Given the description of an element on the screen output the (x, y) to click on. 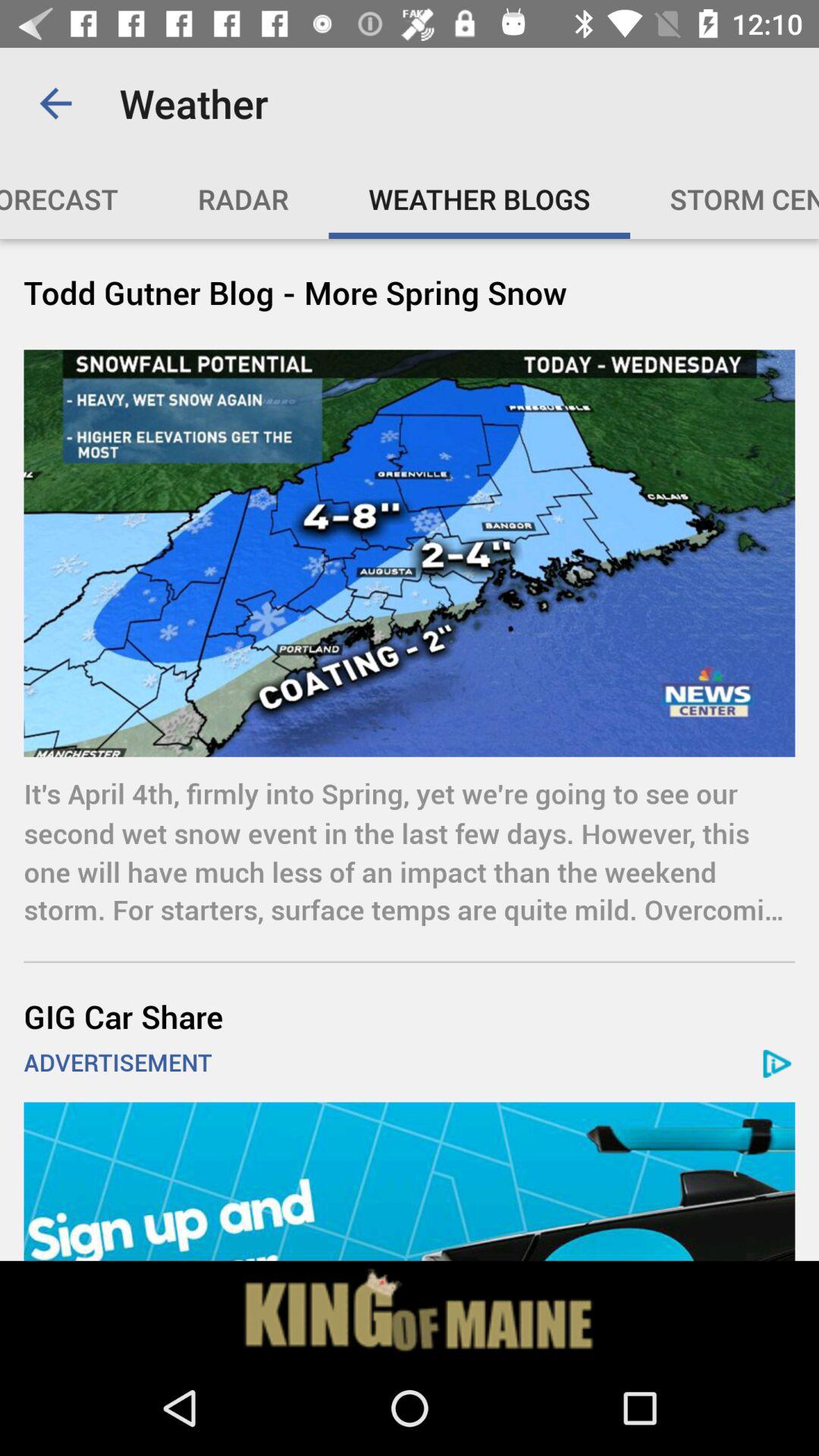
click on advertisement (409, 1181)
